Given the description of an element on the screen output the (x, y) to click on. 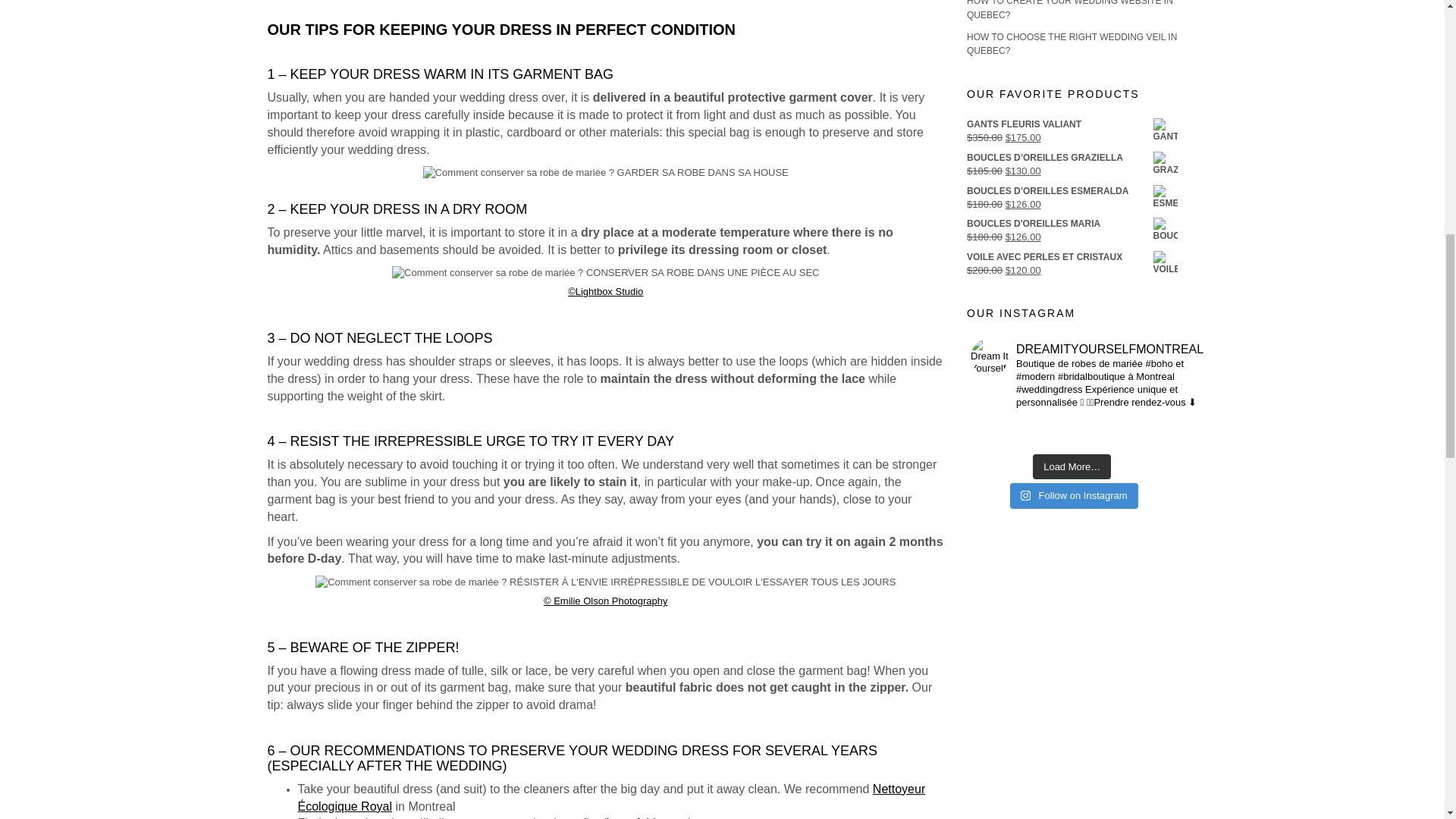
box of this type (647, 817)
